Given the description of an element on the screen output the (x, y) to click on. 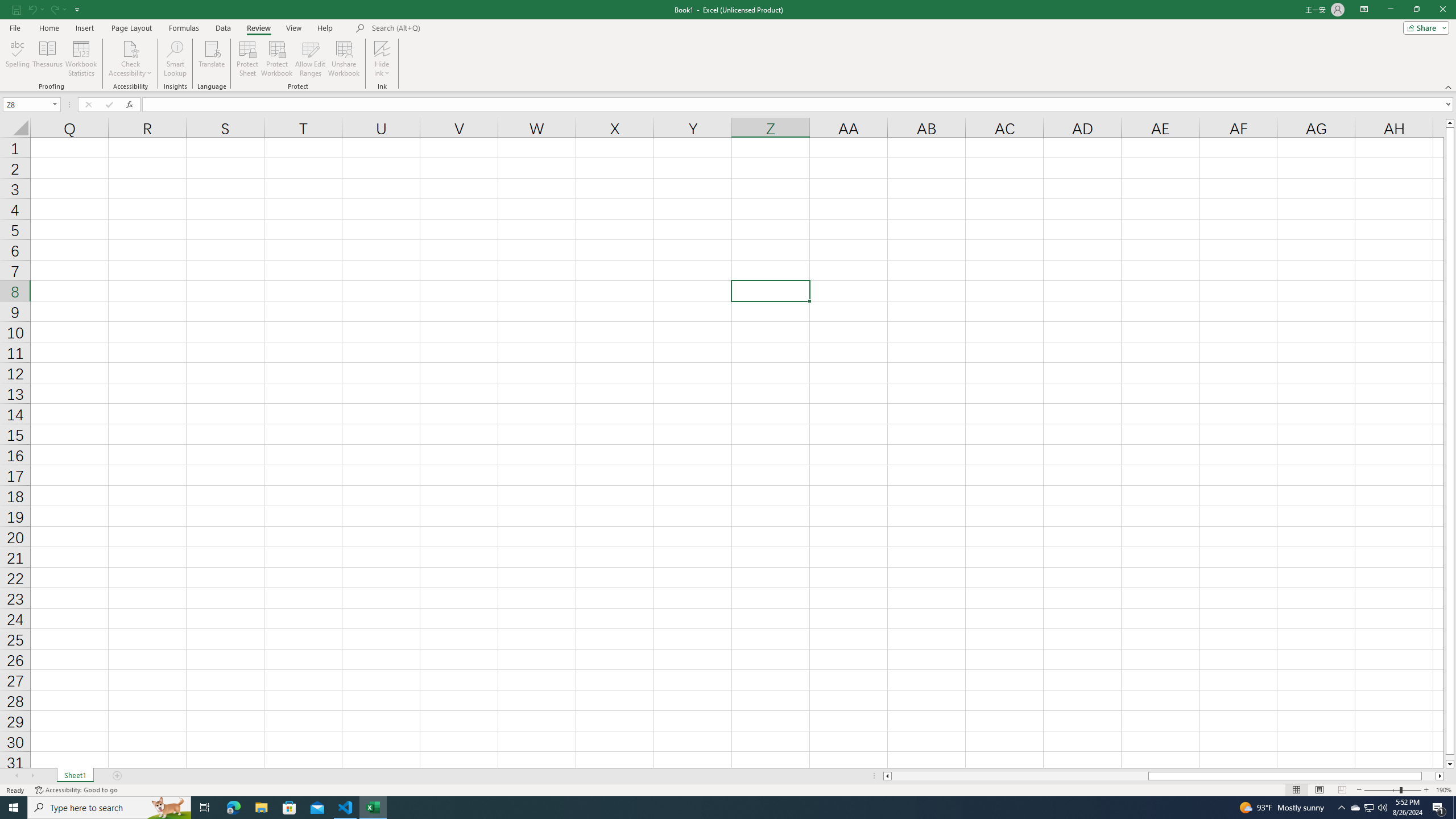
Thesaurus... (47, 58)
Check Accessibility (129, 58)
